Given the description of an element on the screen output the (x, y) to click on. 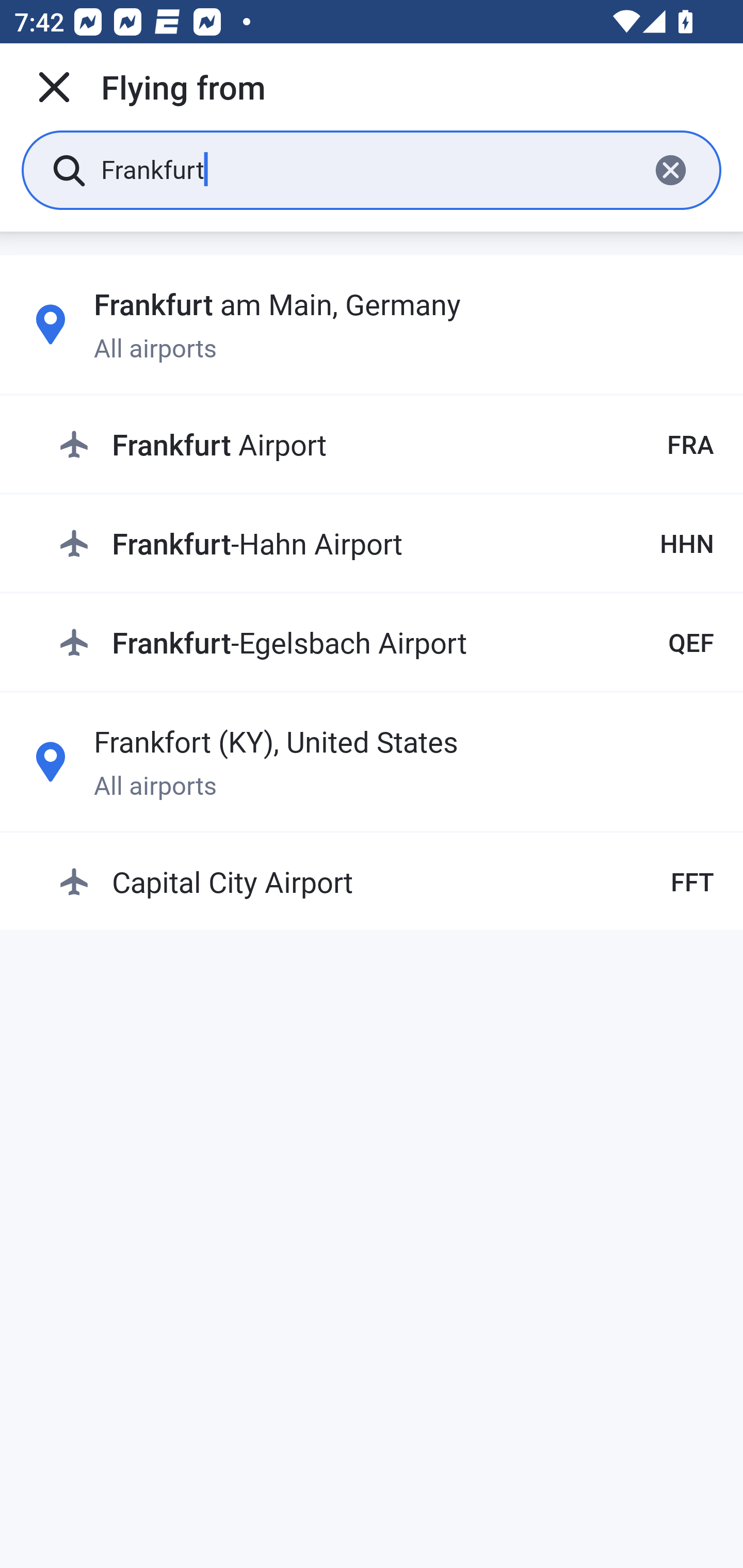
Frankfurt (367, 169)
Frankfurt am Main, Germany All airports (371, 324)
Frankfurt Airport FRA (385, 444)
Frankfurt-Hahn Airport HHN (385, 543)
Frankfurt-Egelsbach Airport QEF (385, 641)
Frankfort (KY), United States All airports (371, 761)
Capital City Airport FFT (385, 881)
